Given the description of an element on the screen output the (x, y) to click on. 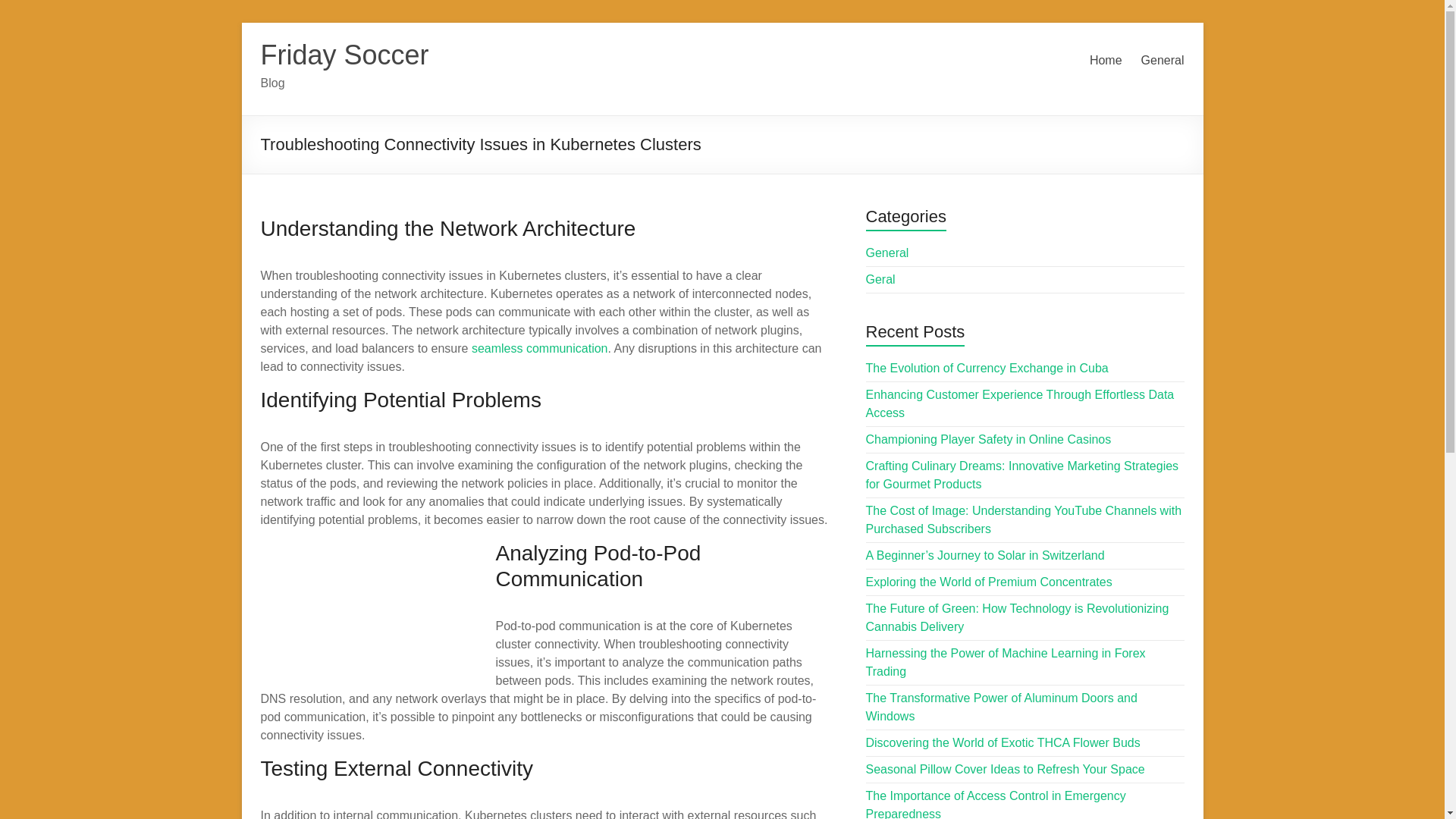
seamless communication (539, 348)
Championing Player Safety in Online Casinos (989, 439)
Friday Soccer (344, 54)
Exploring the World of Premium Concentrates (989, 581)
The Evolution of Currency Exchange in Cuba (987, 367)
Geral (880, 278)
Friday Soccer (344, 54)
